Given the description of an element on the screen output the (x, y) to click on. 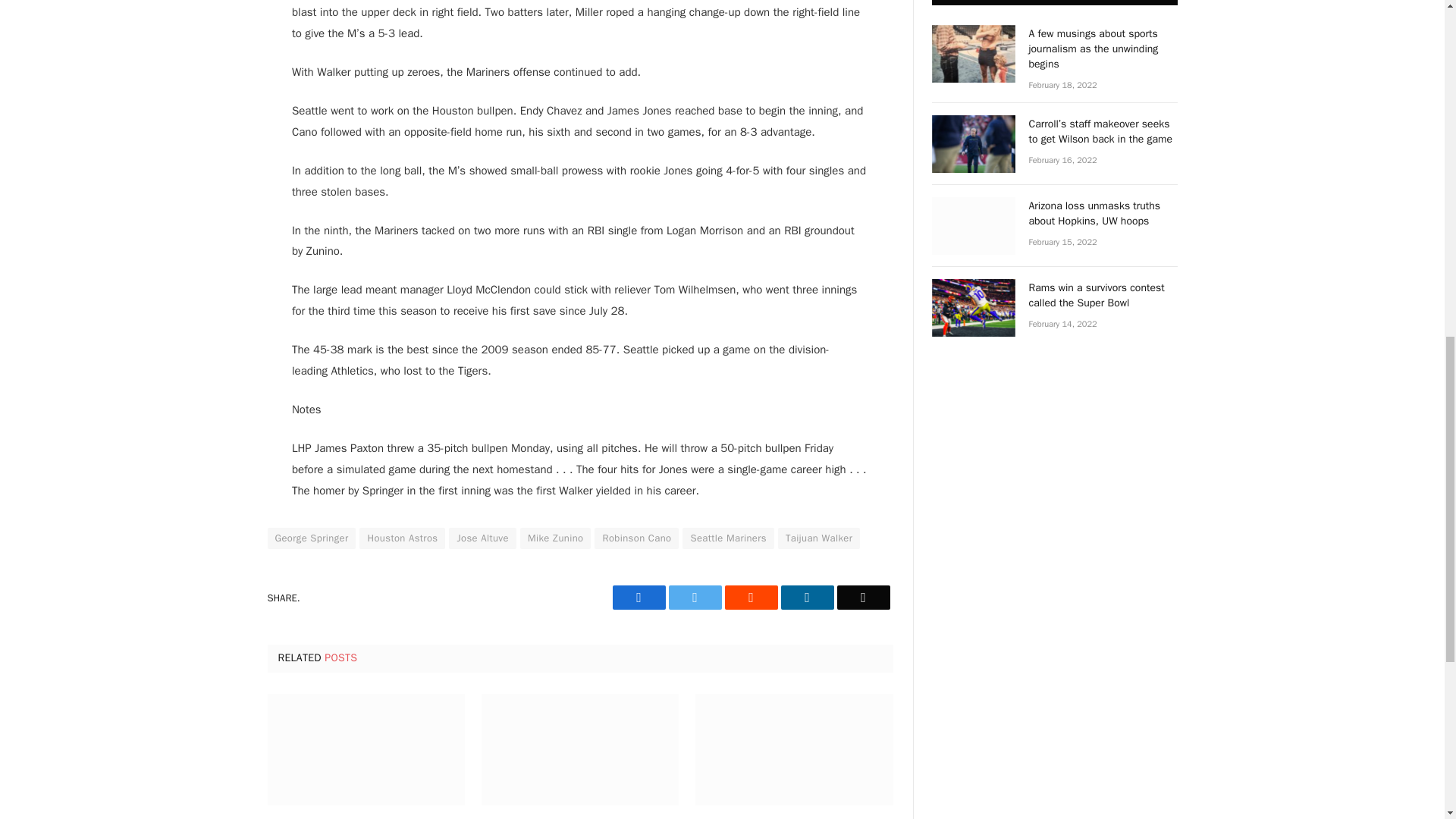
Reddit (751, 597)
Jose Altuve (481, 537)
Robinson Cano (636, 537)
Facebook (638, 597)
Taijuan Walker (818, 537)
Seattle Mariners (727, 537)
Mike Zunino (555, 537)
George Springer (310, 537)
Share on Twitter (638, 597)
Twitter (695, 597)
